Given the description of an element on the screen output the (x, y) to click on. 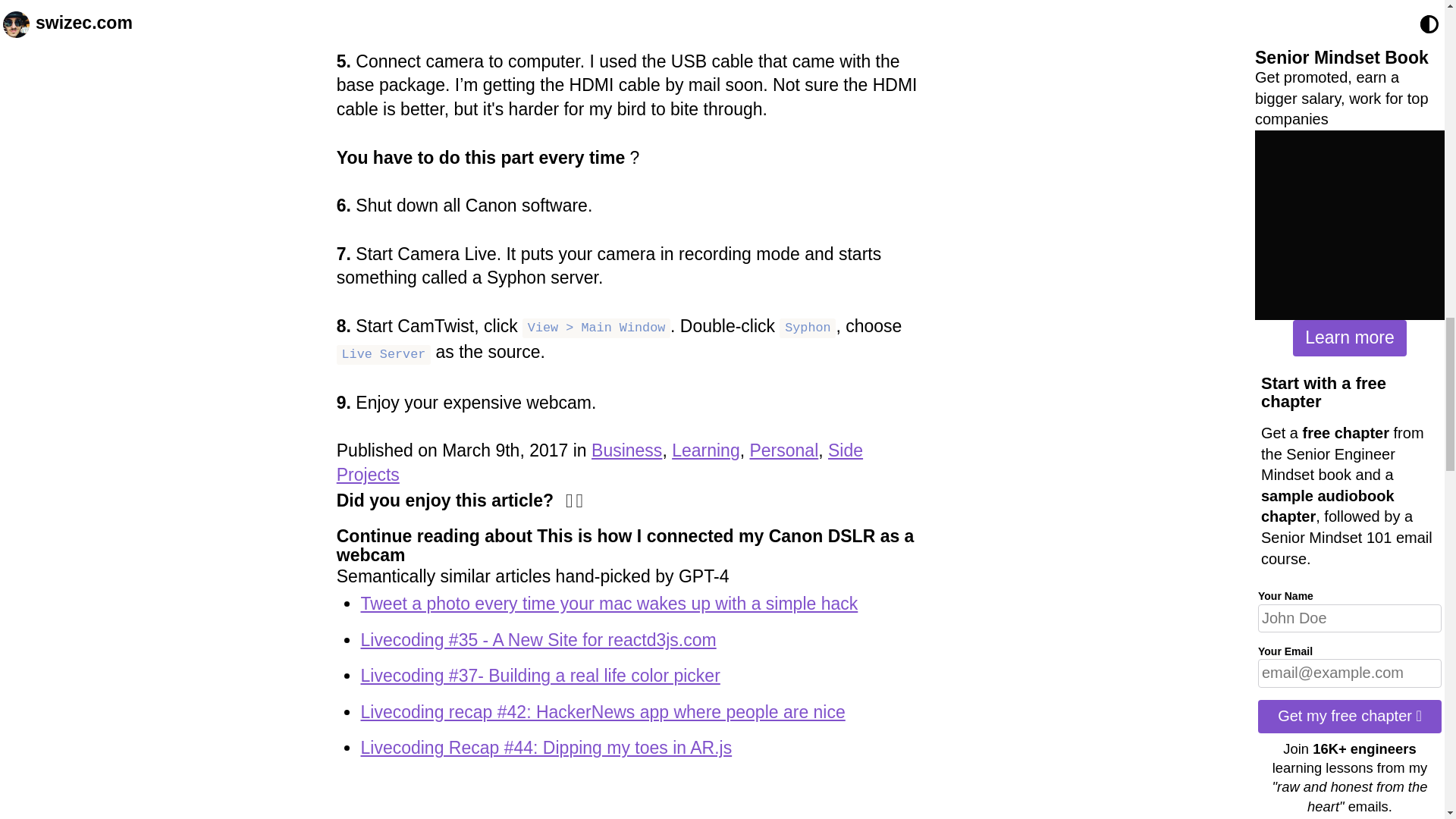
Learning (705, 450)
Personal (783, 450)
Business (626, 450)
Side Projects (599, 462)
